Given the description of an element on the screen output the (x, y) to click on. 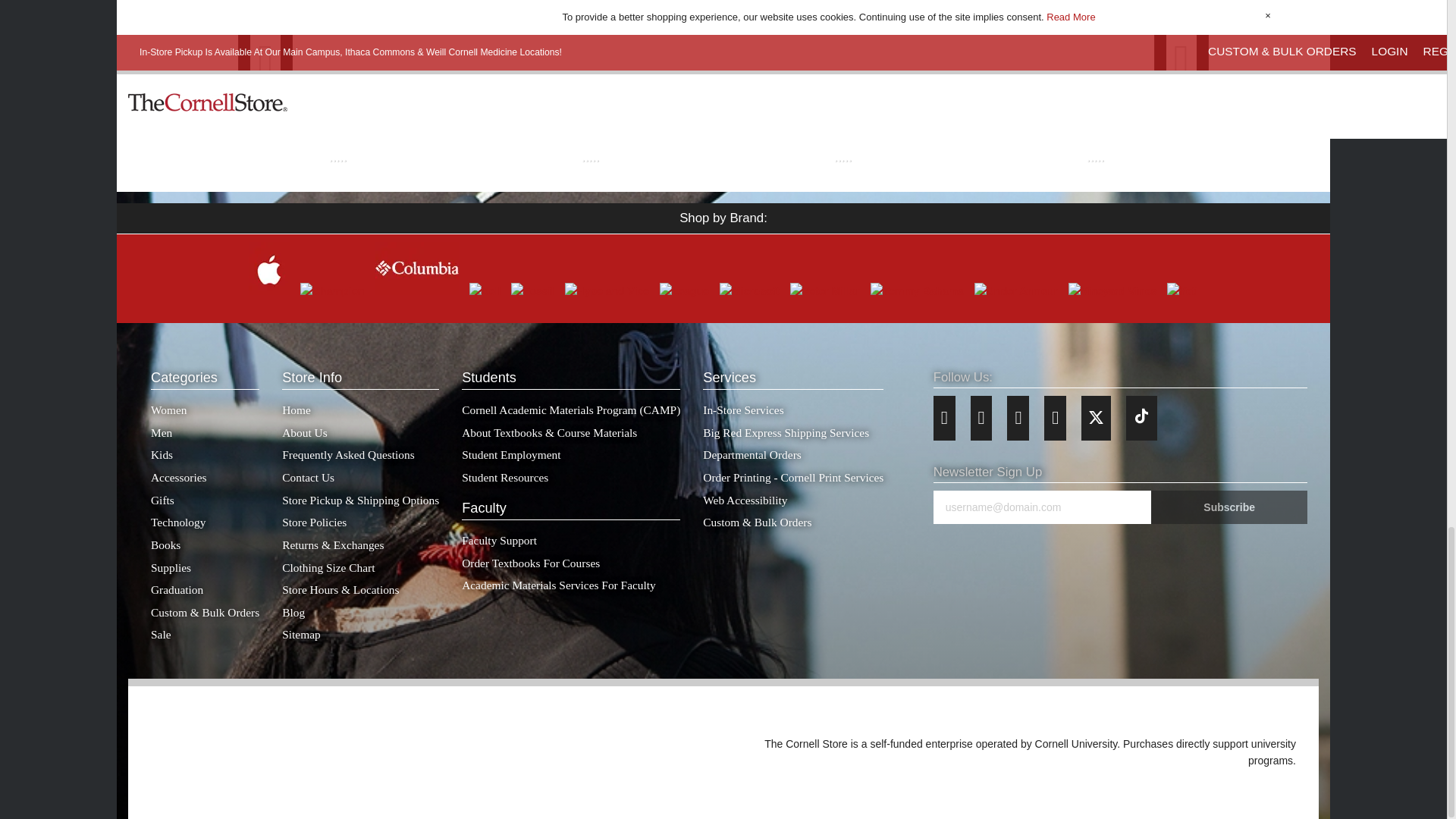
Apple (269, 267)
Columbia (416, 267)
Microsoft (749, 290)
League (683, 290)
Under Armour (1015, 290)
Champion (332, 290)
Tommy Bahama (916, 290)
Fossil (532, 290)
Hype and Vice (606, 290)
Yeti (1182, 290)
